Given the description of an element on the screen output the (x, y) to click on. 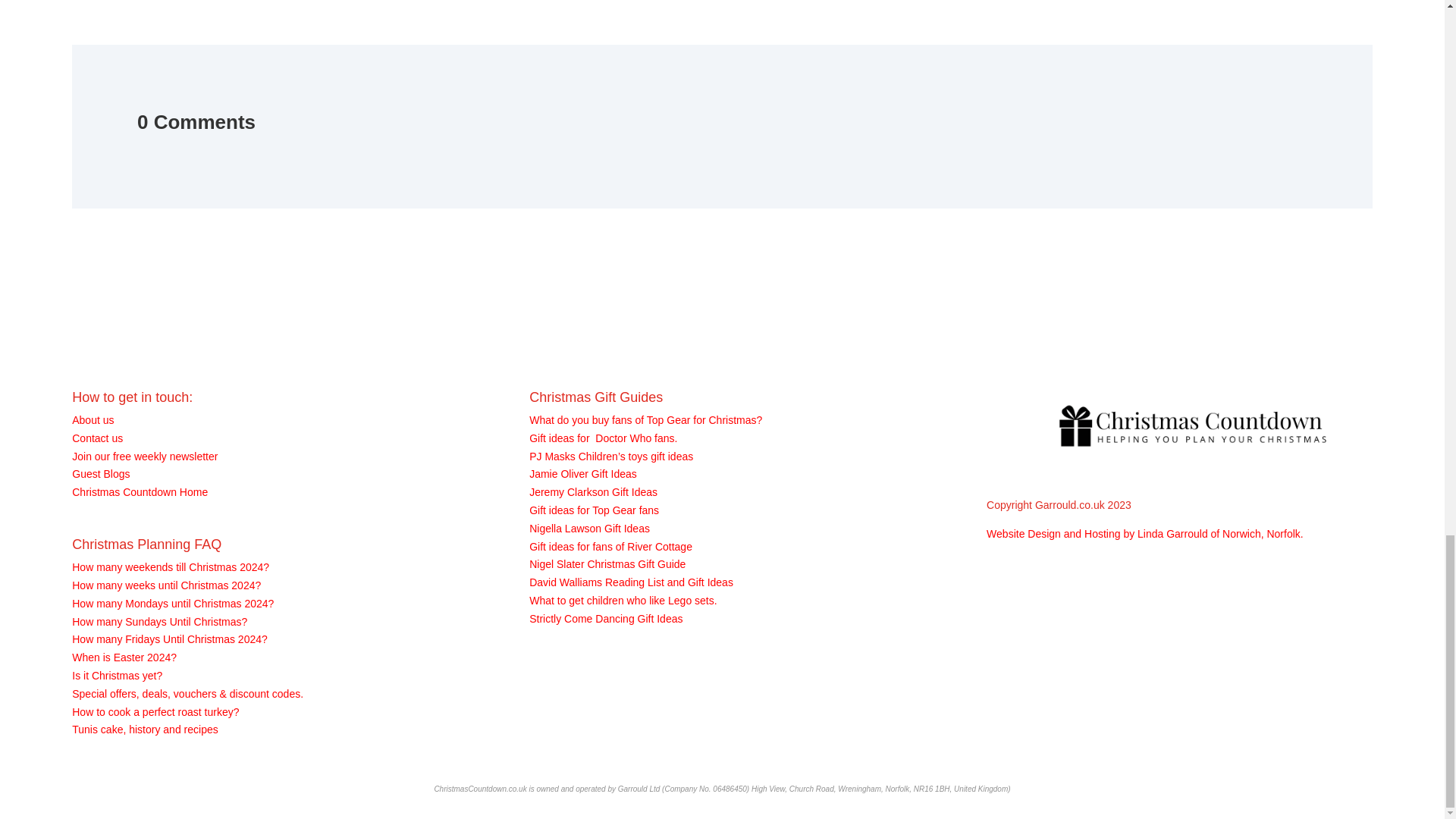
Norwich Website Designer Linda Garrould (1145, 533)
Christmas Countdown Home (139, 491)
How many Sundays Until Christmas? (159, 621)
About us (92, 419)
How many weeks until Christmas 2024? (165, 585)
Guest Blogs (100, 473)
Submit a guest blog (100, 473)
Join our free weekly newsletter (143, 456)
How many weekends till Christmas 2024? (170, 567)
How many Fridays Until Christmas 2024? (169, 639)
Contact us (96, 438)
Contact Us (96, 438)
How many Mondays until Christmas 2024? (172, 603)
Christmas Countdown Home (139, 491)
